Given the description of an element on the screen output the (x, y) to click on. 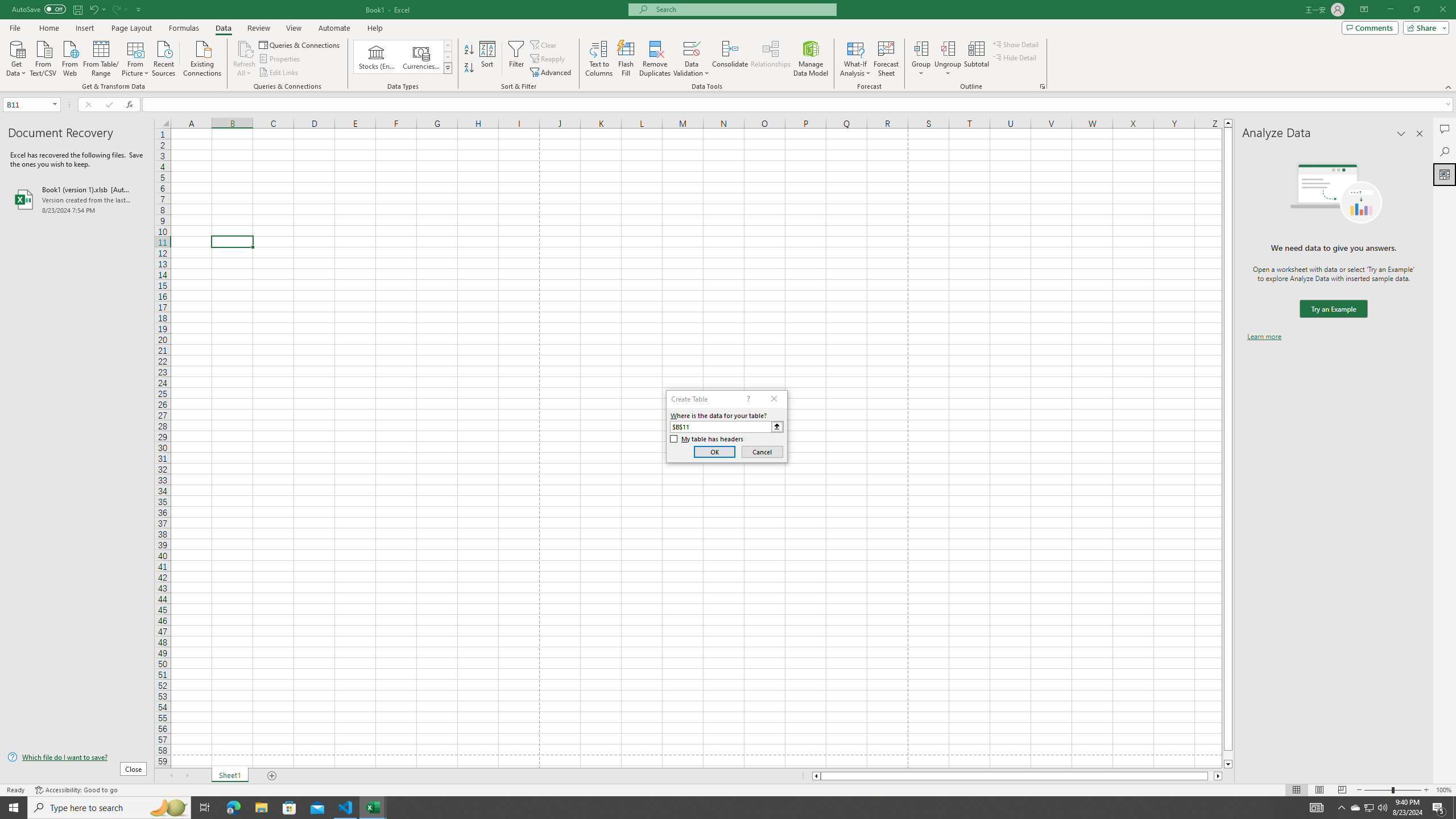
Group and Outline Settings (1042, 85)
From Web (69, 57)
Advanced... (551, 72)
Sort Z to A (469, 67)
